Given the description of an element on the screen output the (x, y) to click on. 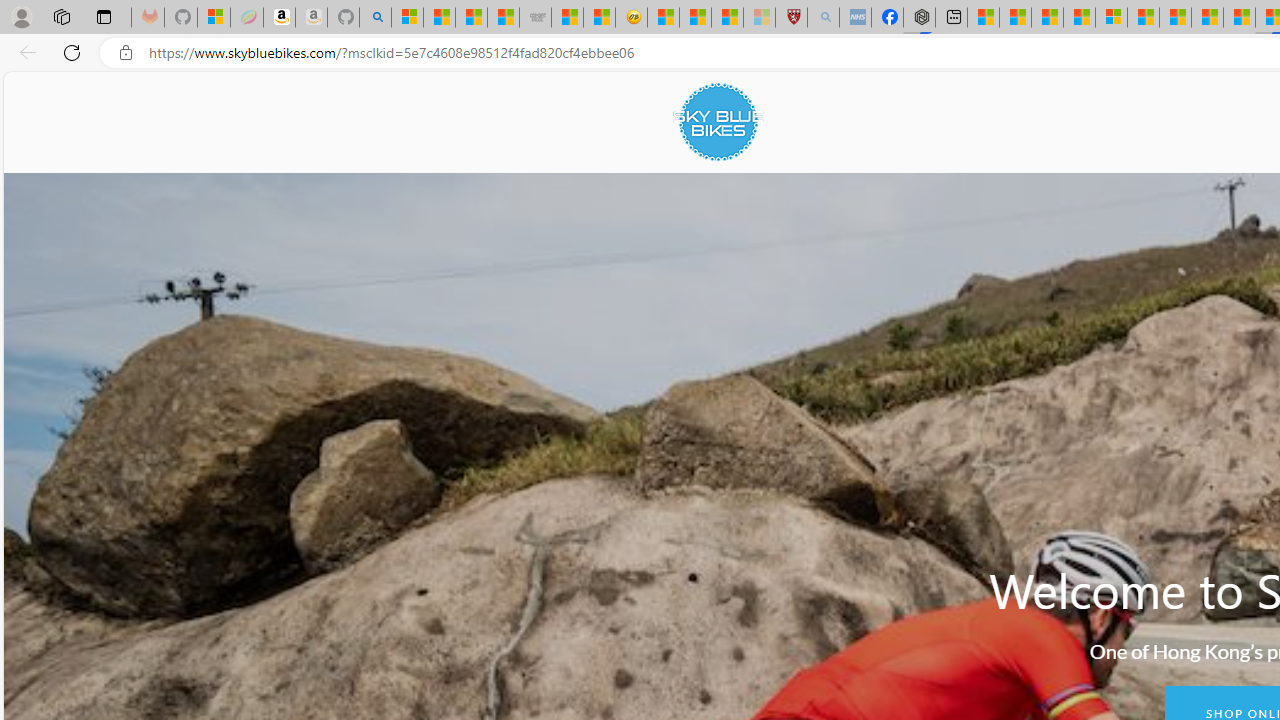
Nordace - Nordace Siena Is Not An Ordinary Backpack (919, 17)
Microsoft-Report a Concern to Bing (214, 17)
Combat Siege (535, 17)
Science - MSN (727, 17)
